Given the description of an element on the screen output the (x, y) to click on. 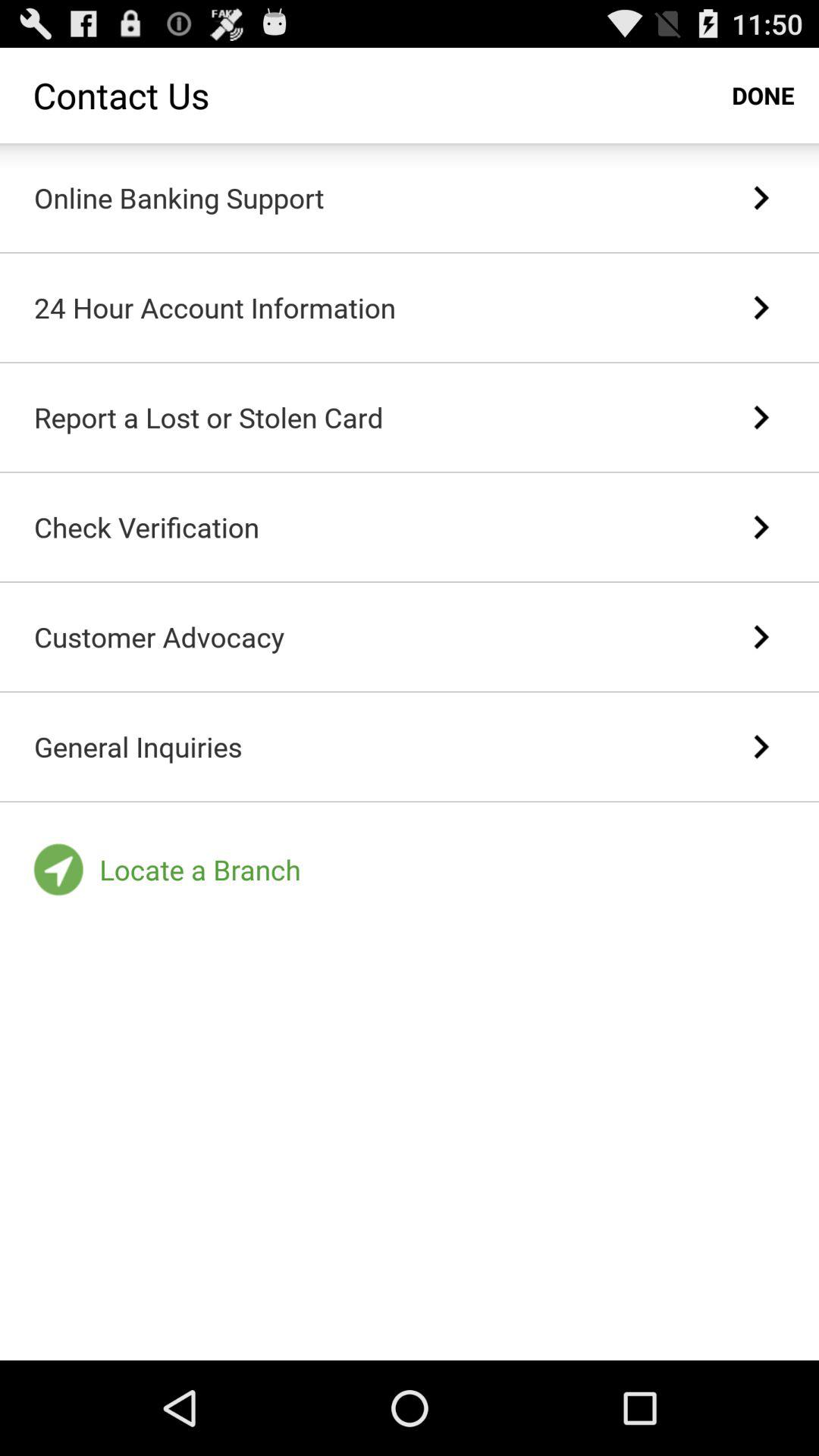
click the item next to the online banking support (760, 197)
